Given the description of an element on the screen output the (x, y) to click on. 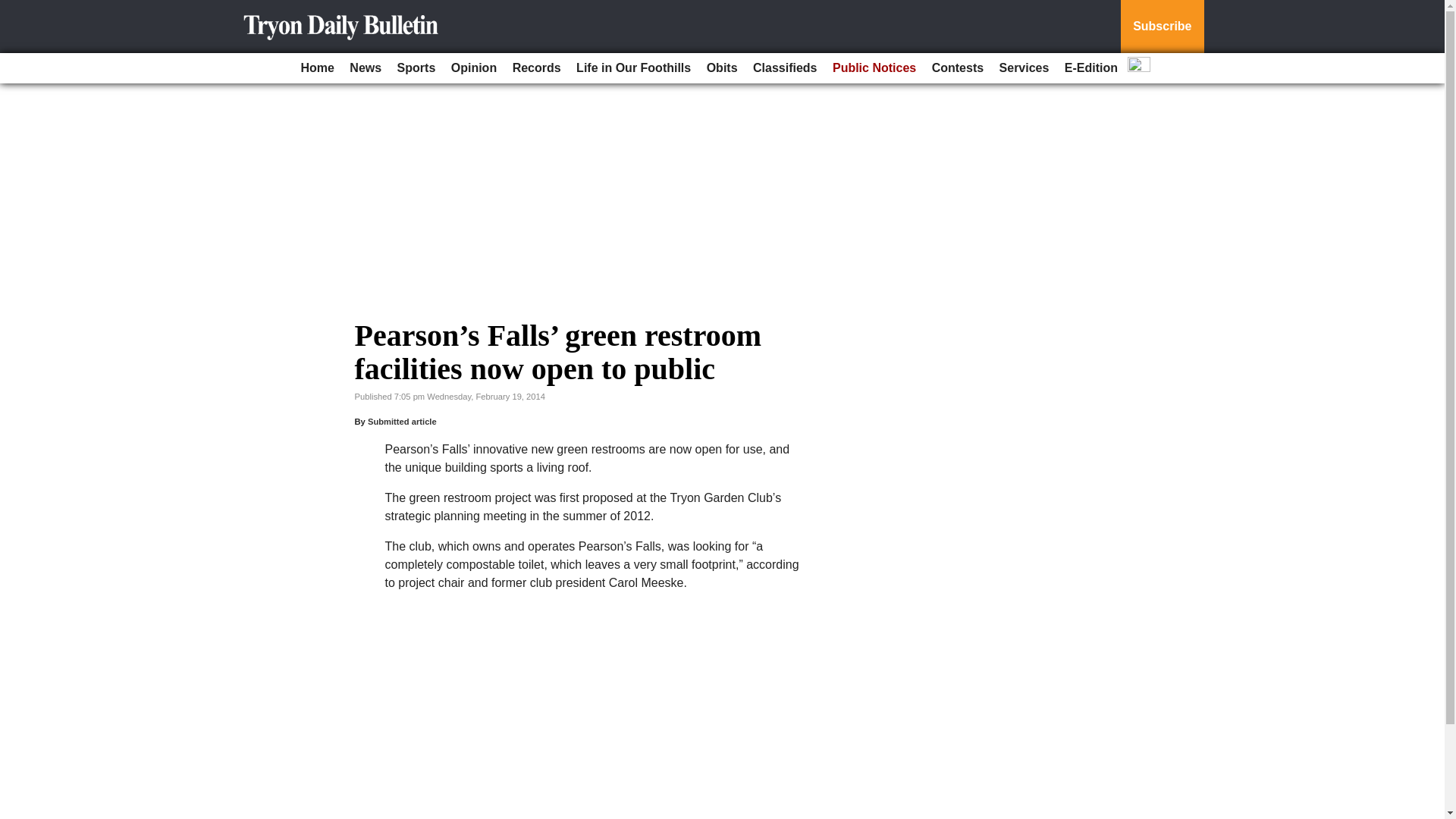
Sports (416, 68)
News (365, 68)
Opinion (473, 68)
Subscribe (1162, 26)
Records (536, 68)
Contests (958, 68)
Services (1023, 68)
Home (316, 68)
E-Edition (1091, 68)
Classifieds (784, 68)
